Given the description of an element on the screen output the (x, y) to click on. 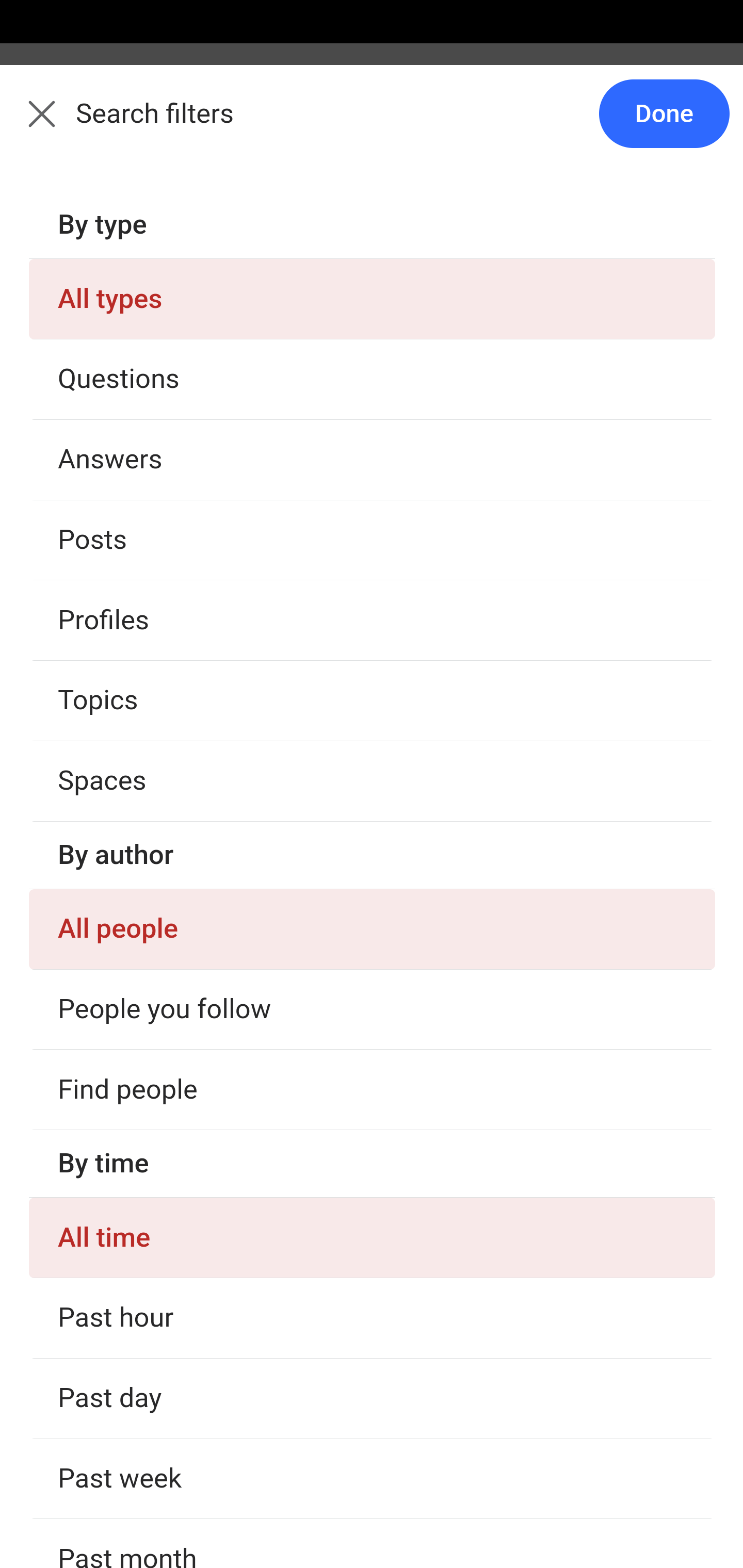
Back Search (371, 125)
Answer (125, 387)
Answer (125, 768)
What are the best sites for learning Data Science? (372, 1097)
Answer (125, 1402)
